Given the description of an element on the screen output the (x, y) to click on. 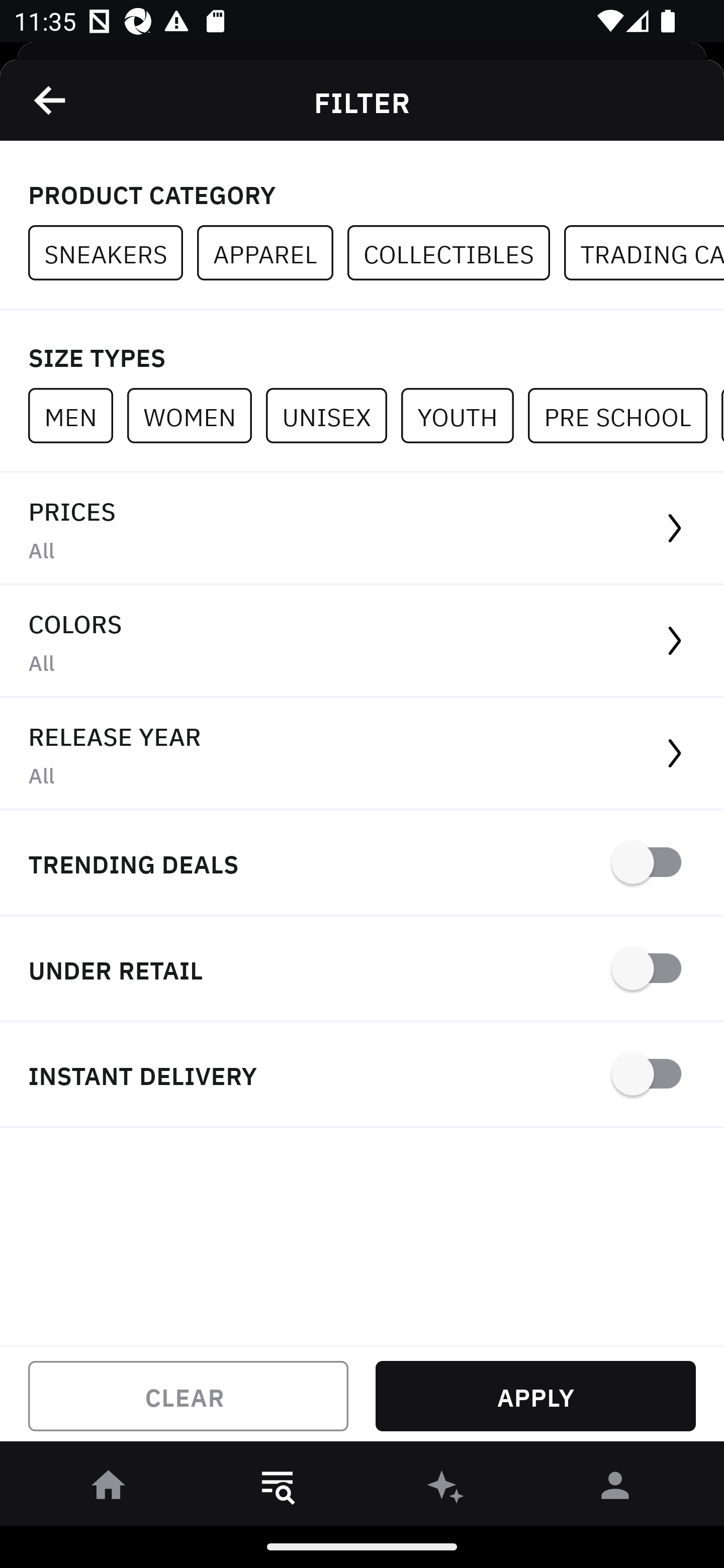
 (50, 100)
SNEAKERS (112, 252)
APPAREL (271, 252)
COLLECTIBLES (455, 252)
TRADING CARDS (643, 252)
MEN (77, 415)
WOMEN (196, 415)
UNISEX (333, 415)
YOUTH (464, 415)
PRE SCHOOL (624, 415)
PRICES All (362, 528)
COLORS All (362, 640)
RELEASE YEAR All (362, 753)
TRENDING DEALS (362, 863)
UNDER RETAIL (362, 969)
INSTANT DELIVERY (362, 1075)
CLEAR  (188, 1396)
APPLY (535, 1396)
󰋜 (108, 1488)
󱎸 (277, 1488)
󰫢 (446, 1488)
󰀄 (615, 1488)
